Given the description of an element on the screen output the (x, y) to click on. 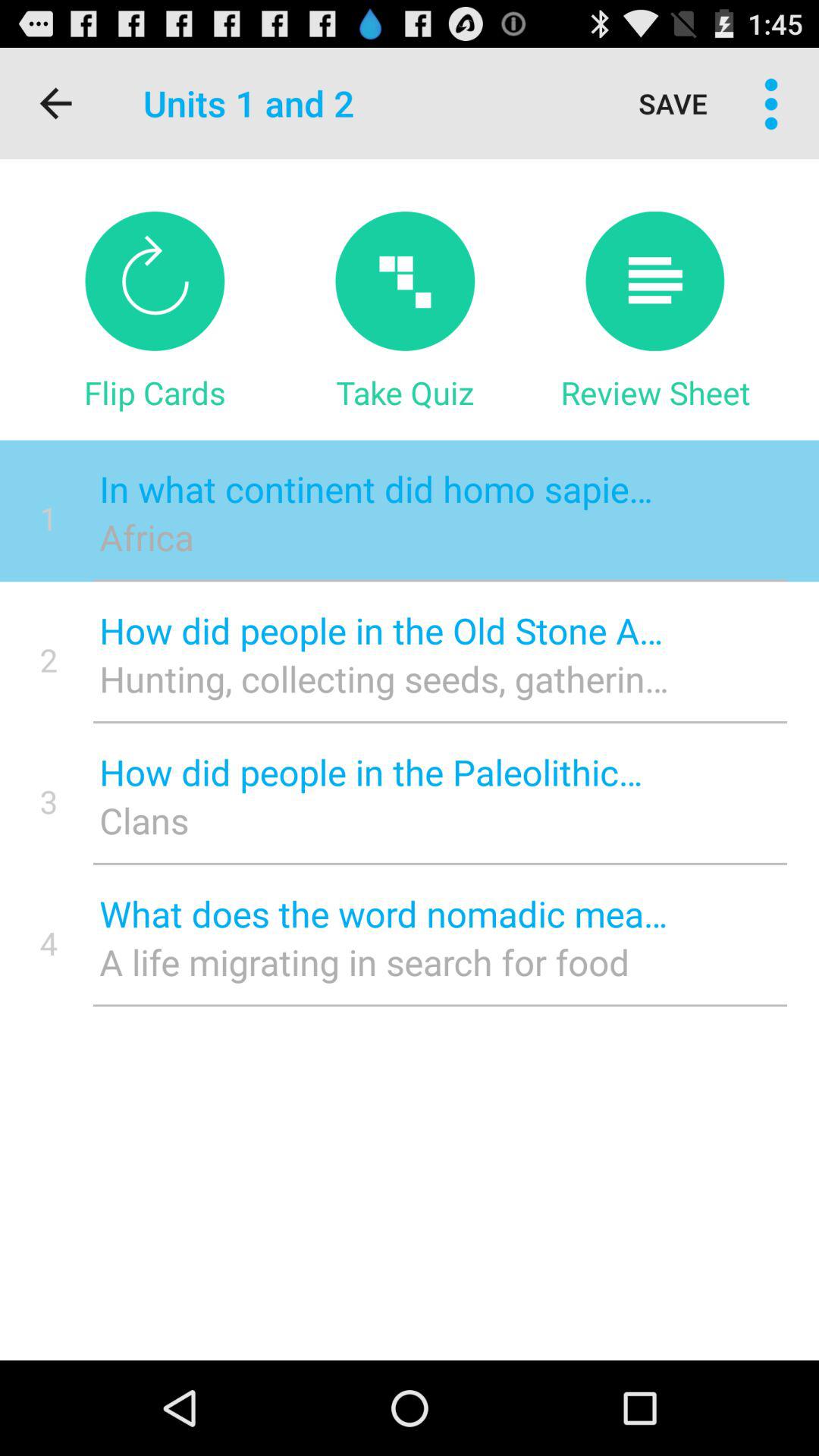
turn off clans item (384, 820)
